Given the description of an element on the screen output the (x, y) to click on. 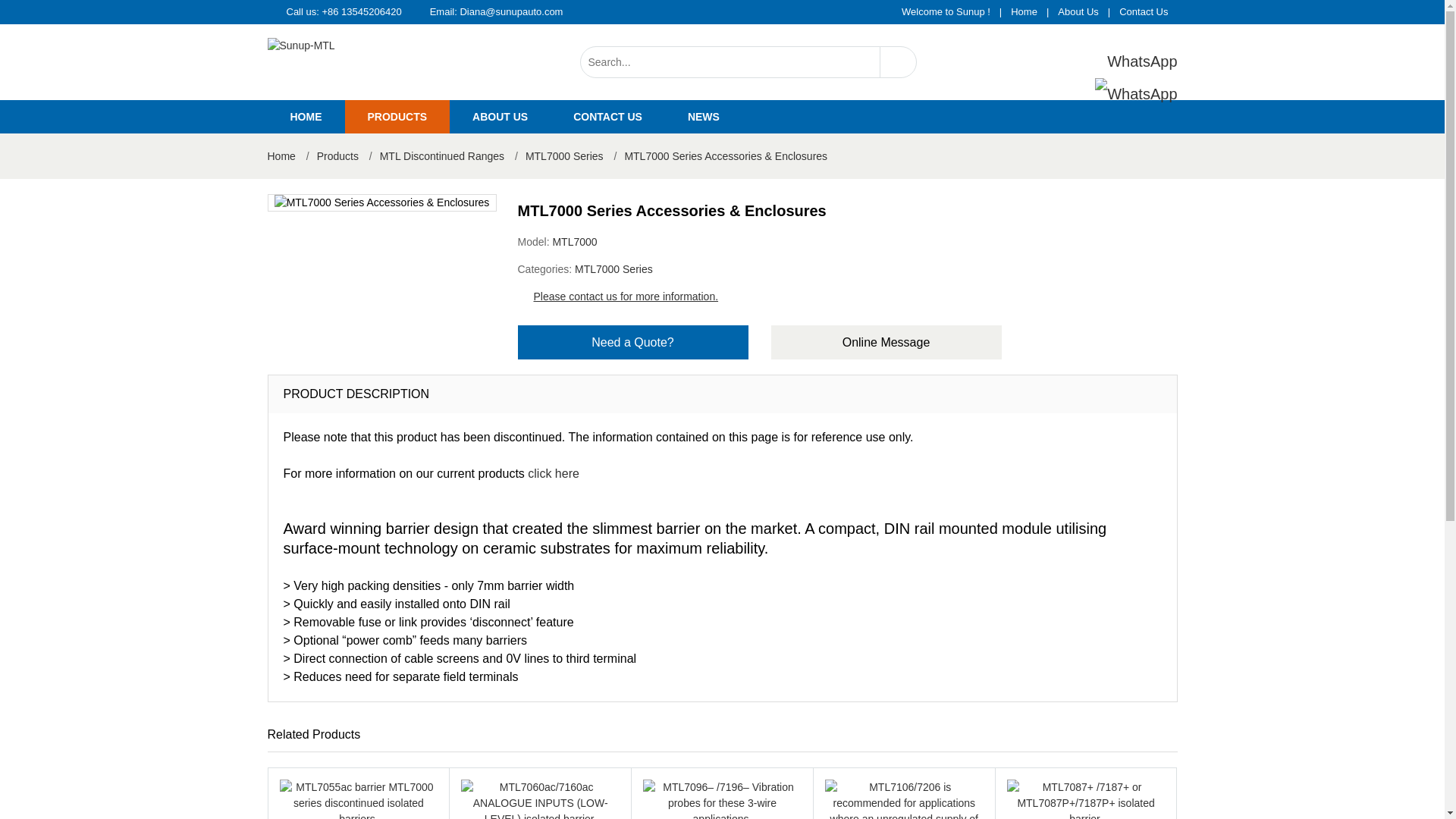
Contact us (607, 116)
Products (396, 116)
About us (499, 116)
About Us (1077, 11)
Please contact us for more information. (626, 296)
CONTACT US (607, 116)
Online Message (885, 342)
Home (1023, 11)
Sunup-MTL (347, 45)
MTL7000 Series (564, 155)
HOME (304, 116)
Products (553, 472)
News (703, 116)
Contact Us (1142, 11)
WhatsApp (1123, 77)
